Given the description of an element on the screen output the (x, y) to click on. 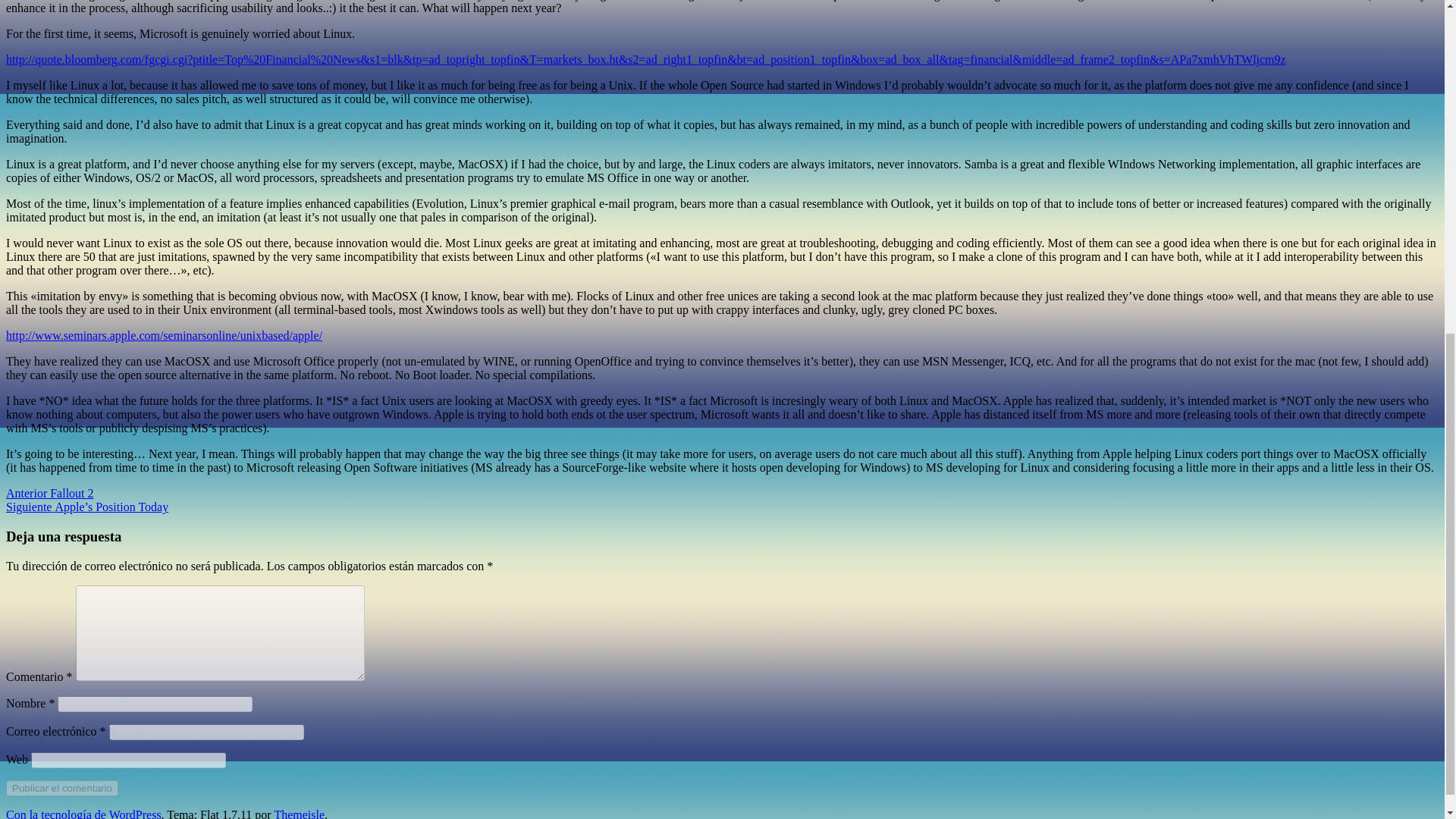
Publicar el comentario (61, 788)
Publicar el comentario (61, 788)
